Given the description of an element on the screen output the (x, y) to click on. 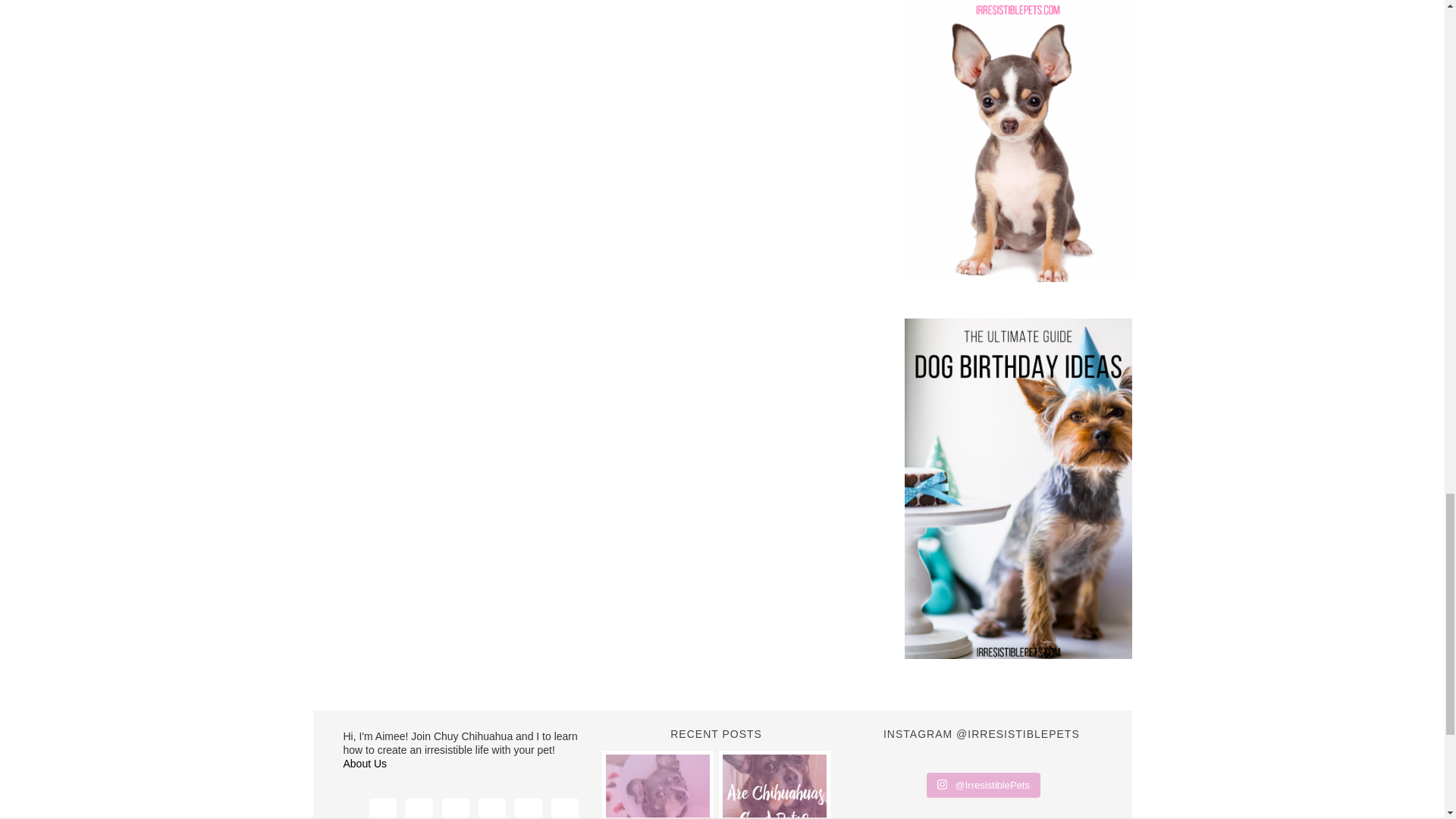
About Us (364, 763)
Are Chihuahuas Good Pets? (773, 786)
My Chihuahua Had a Splenectomy (657, 786)
